Given the description of an element on the screen output the (x, y) to click on. 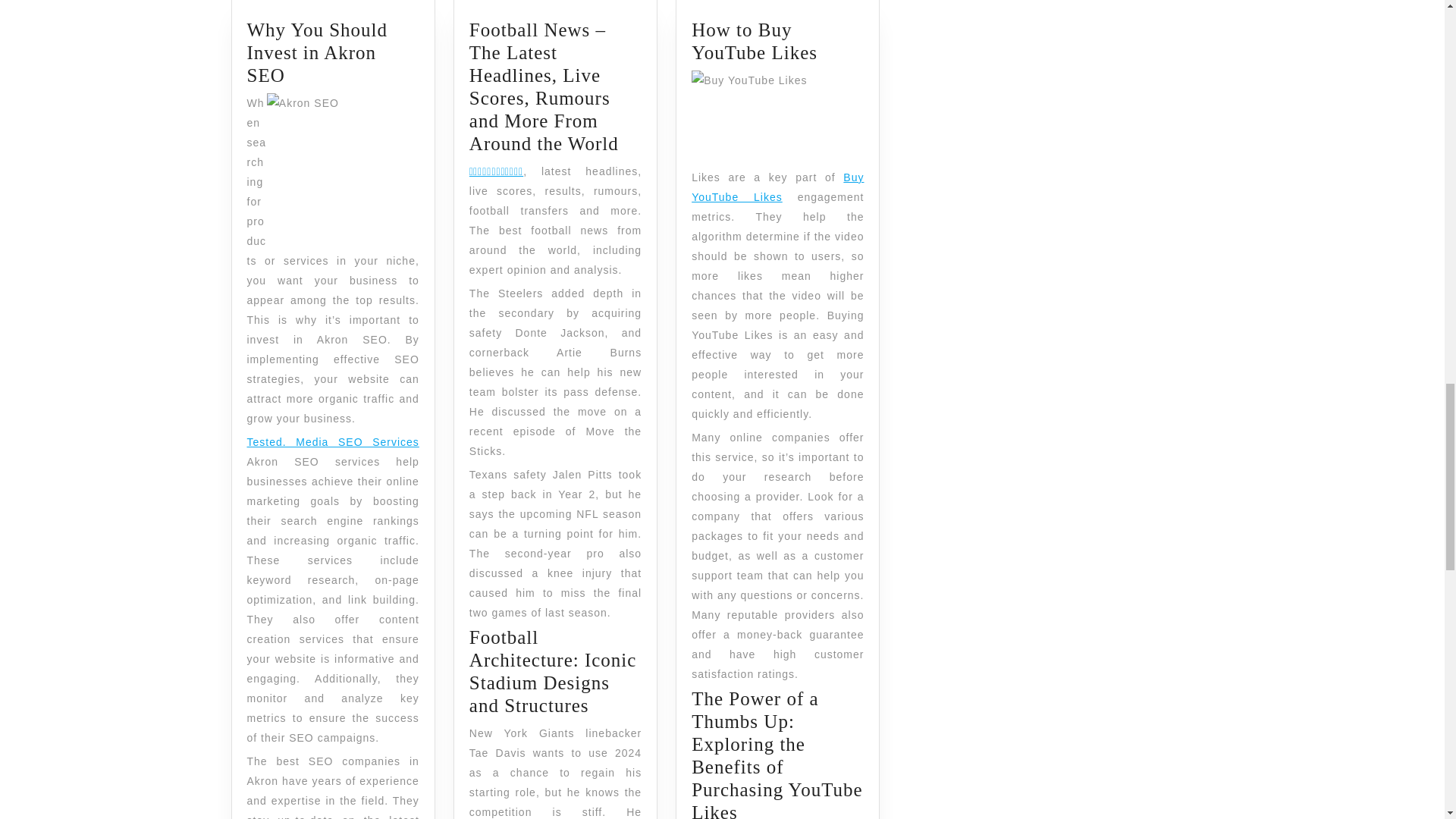
Tested. Media SEO Services (753, 41)
Buy YouTube Likes (333, 441)
